Given the description of an element on the screen output the (x, y) to click on. 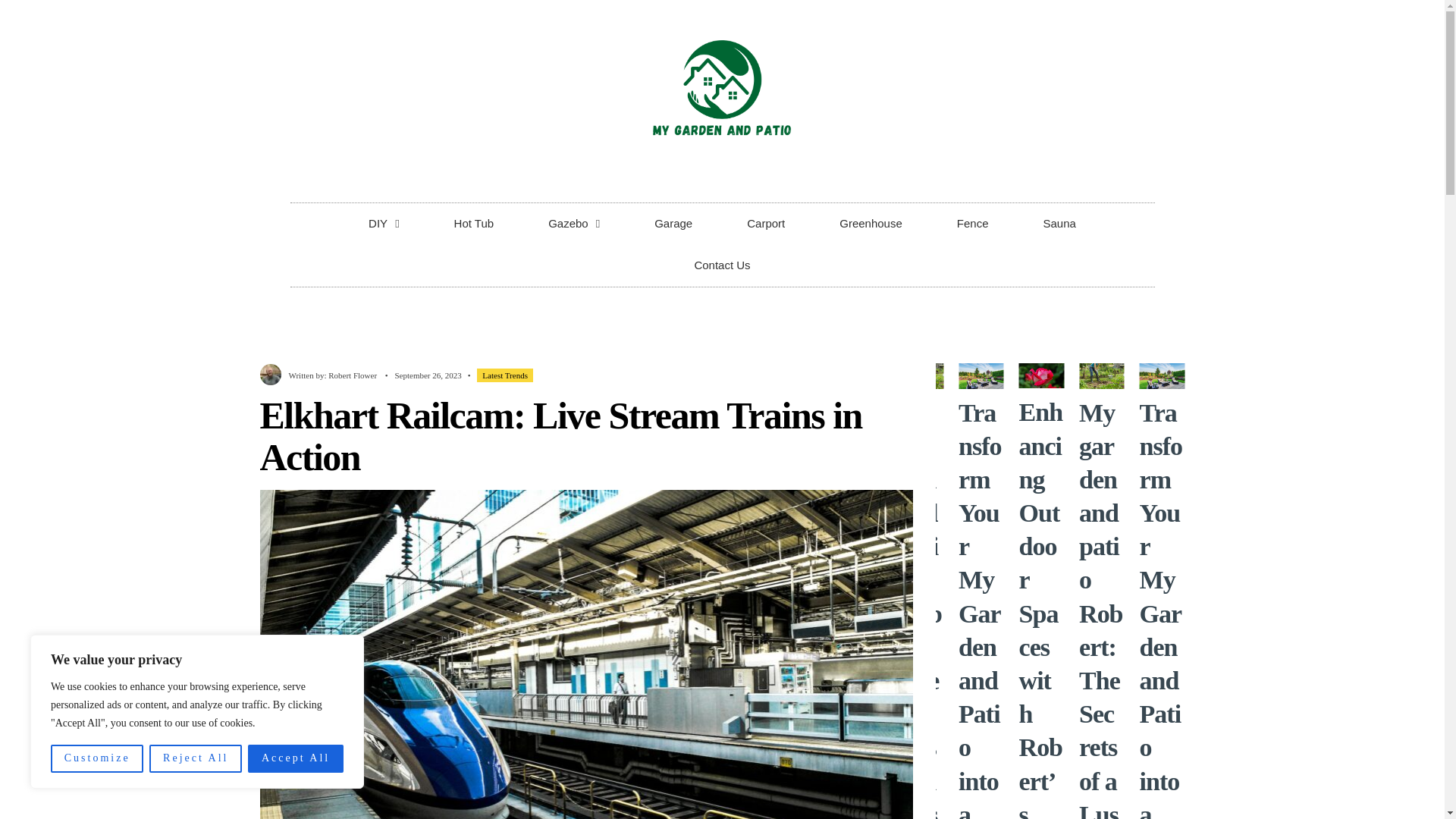
Customize (96, 758)
DIY (383, 223)
Garage (673, 223)
Latest Trends (504, 375)
Reject All (195, 758)
Greenhouse (871, 223)
Robert Flower (353, 375)
Accept All (295, 758)
Posts by Robert Flower (353, 375)
Hot Tub (473, 223)
Fence (973, 223)
Sauna (1059, 223)
Contact Us (721, 265)
Carport (765, 223)
Gazebo (574, 223)
